Given the description of an element on the screen output the (x, y) to click on. 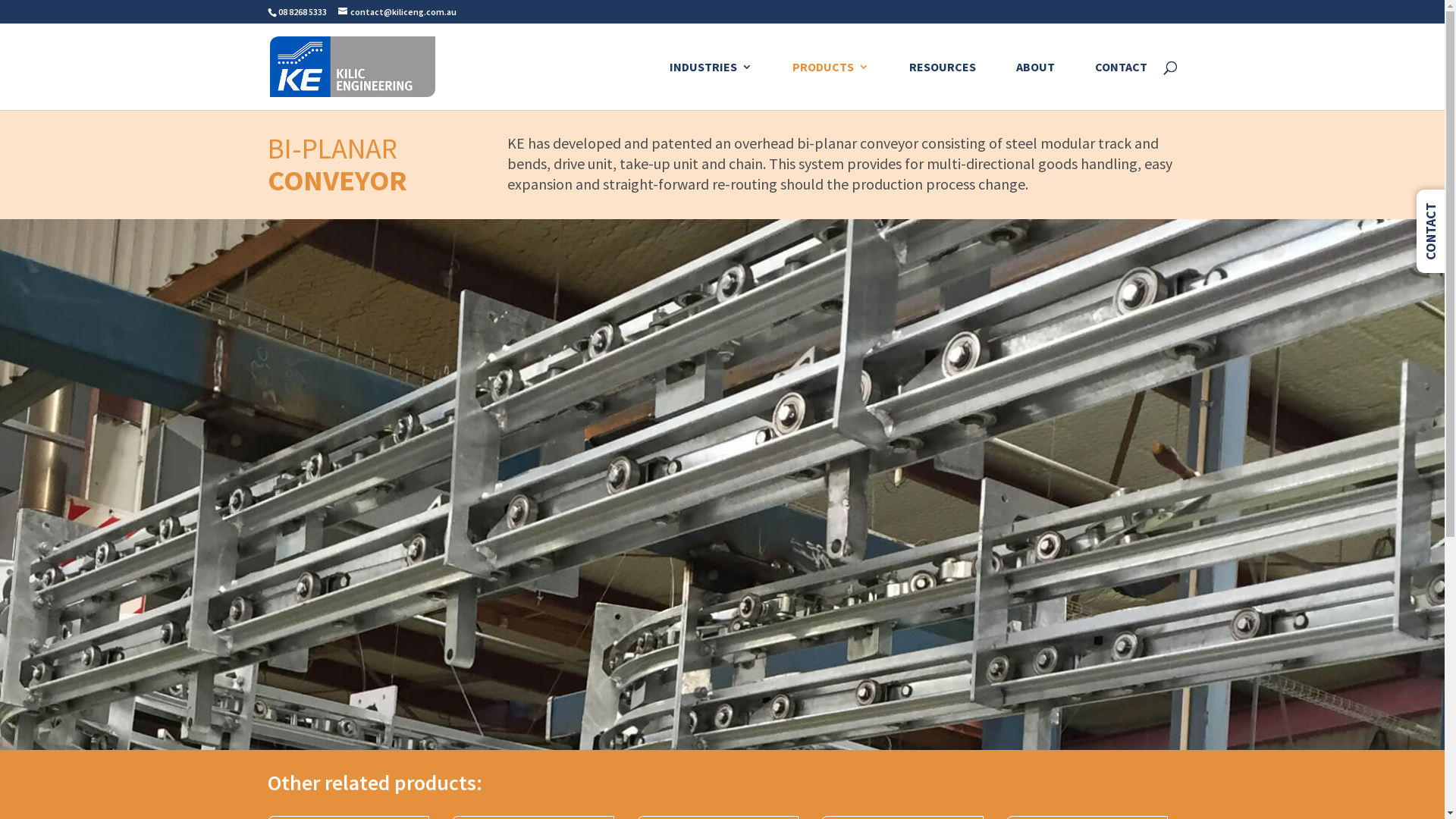
CONTACT Element type: text (1121, 85)
contact@kiliceng.com.au Element type: text (397, 11)
INDUSTRIES Element type: text (709, 85)
PRODUCTS Element type: text (829, 85)
ABOUT Element type: text (1035, 85)
RESOURCES Element type: text (941, 85)
